Given the description of an element on the screen output the (x, y) to click on. 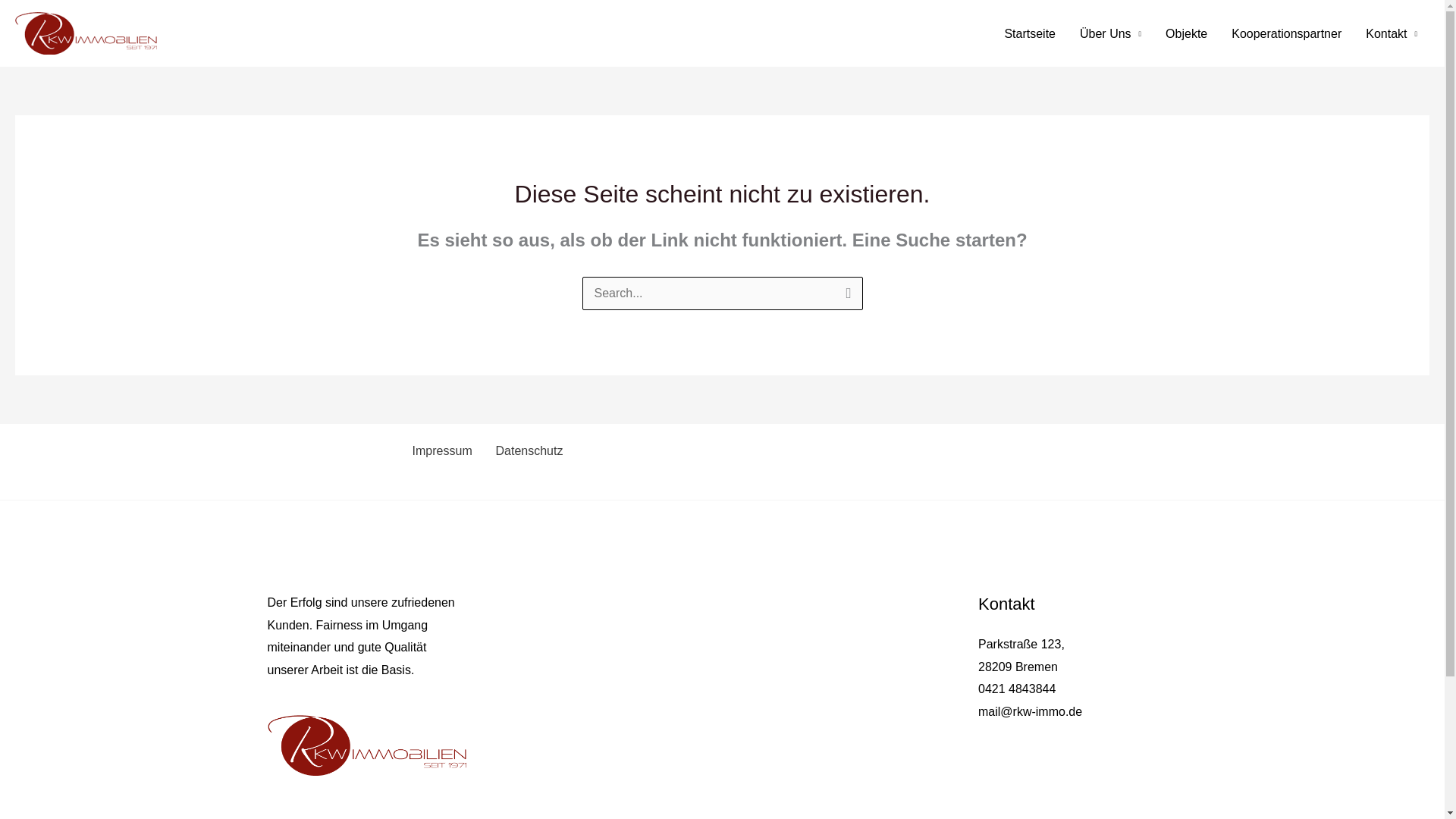
Impressum (440, 451)
Datenschutz (526, 451)
Objekte (1186, 32)
Startseite (1029, 32)
Kontakt (1391, 32)
28209 Bremen (1018, 666)
Kooperationspartner (1287, 32)
0421 4843844 (1016, 688)
